Given the description of an element on the screen output the (x, y) to click on. 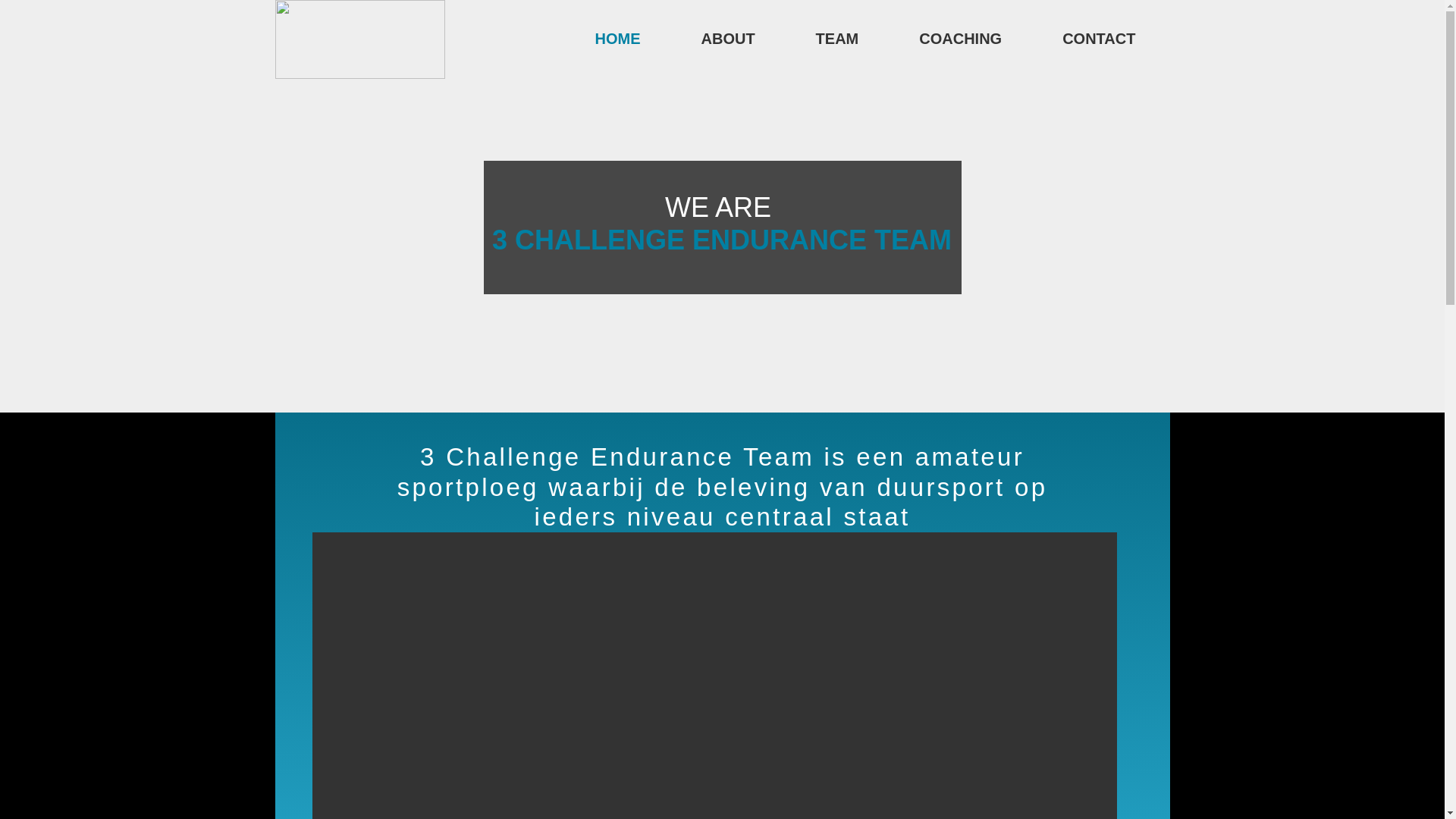
COACHING Element type: text (960, 39)
TEAM Element type: text (837, 39)
CONTACT Element type: text (1098, 39)
HOME Element type: text (617, 39)
ABOUT Element type: text (727, 39)
